Given the description of an element on the screen output the (x, y) to click on. 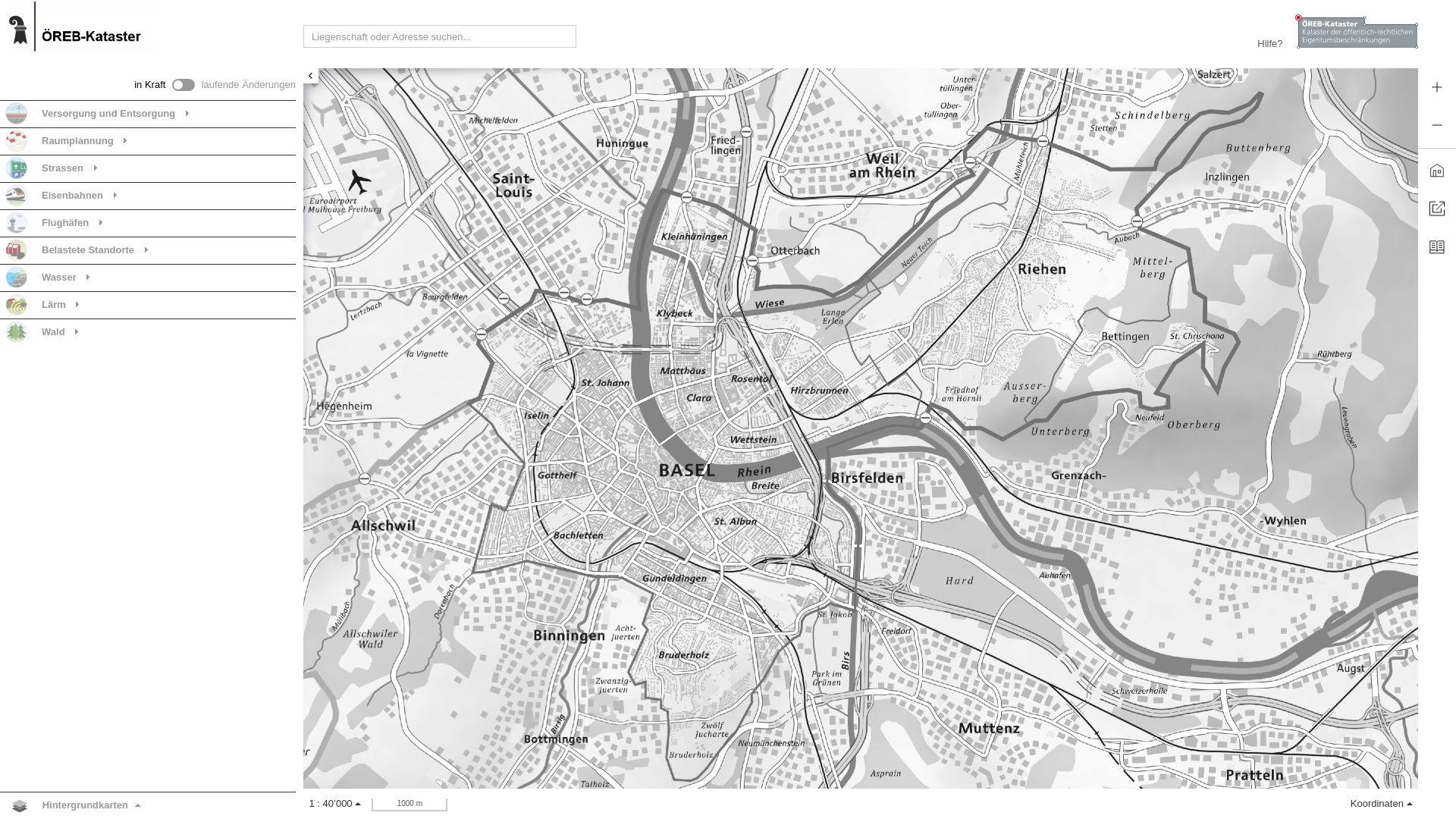
Raumplannung Element type: text (76, 140)
Strassen Element type: text (61, 168)
Hilfe? Element type: text (1270, 43)
Koordinaten Element type: text (1381, 803)
Wald Element type: text (52, 332)
Wasser Element type: text (58, 277)
Belastete Standorte Element type: text (87, 250)
Versorgung und Entsorgung Element type: text (107, 113)
Eisenbahnen Element type: text (71, 195)
